Given the description of an element on the screen output the (x, y) to click on. 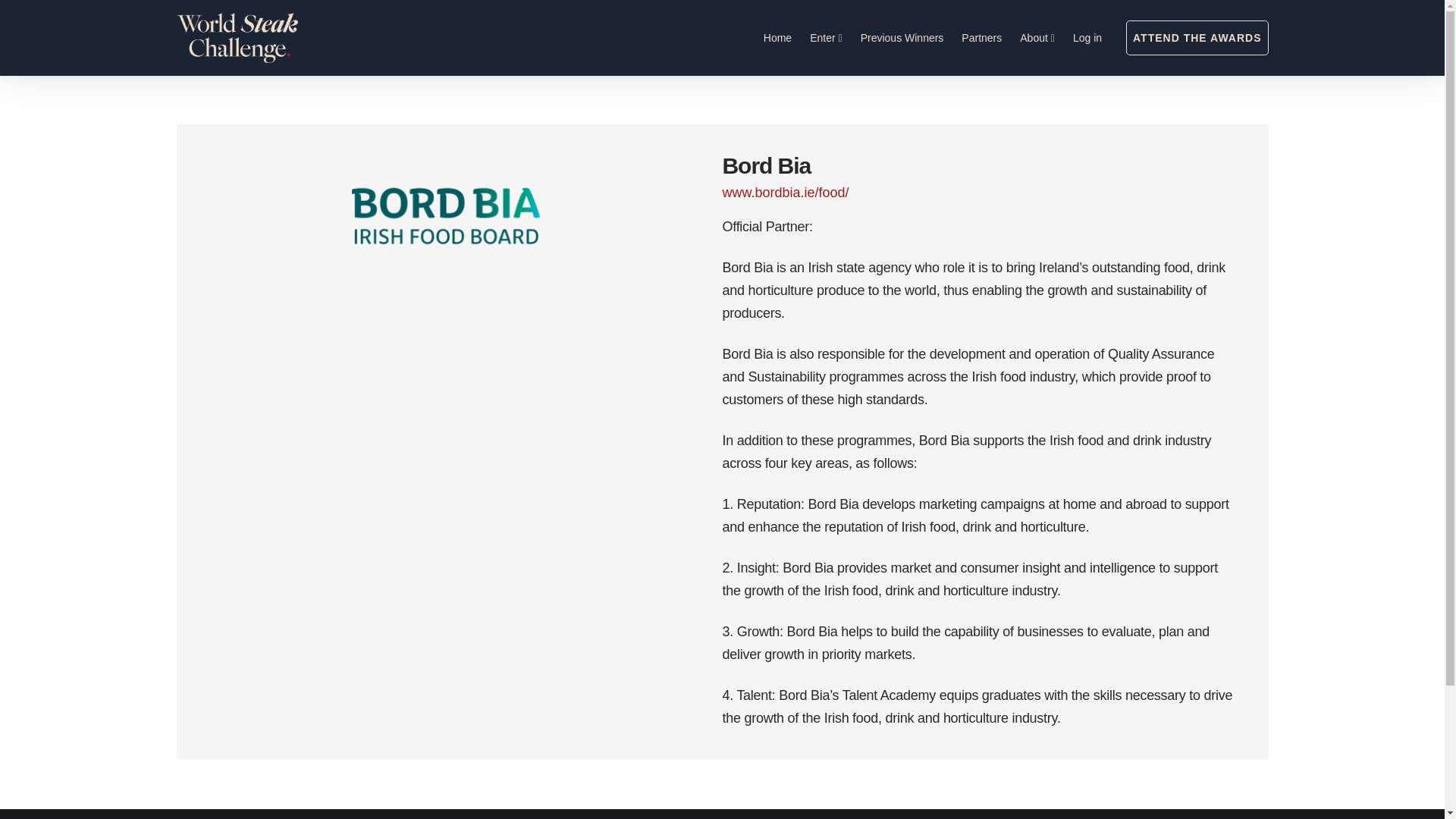
Partners (981, 37)
Enter (825, 37)
ATTEND THE AWARDS (1196, 37)
Previous Winners (902, 37)
Home (777, 37)
About (1037, 37)
Log in (1087, 37)
